Given the description of an element on the screen output the (x, y) to click on. 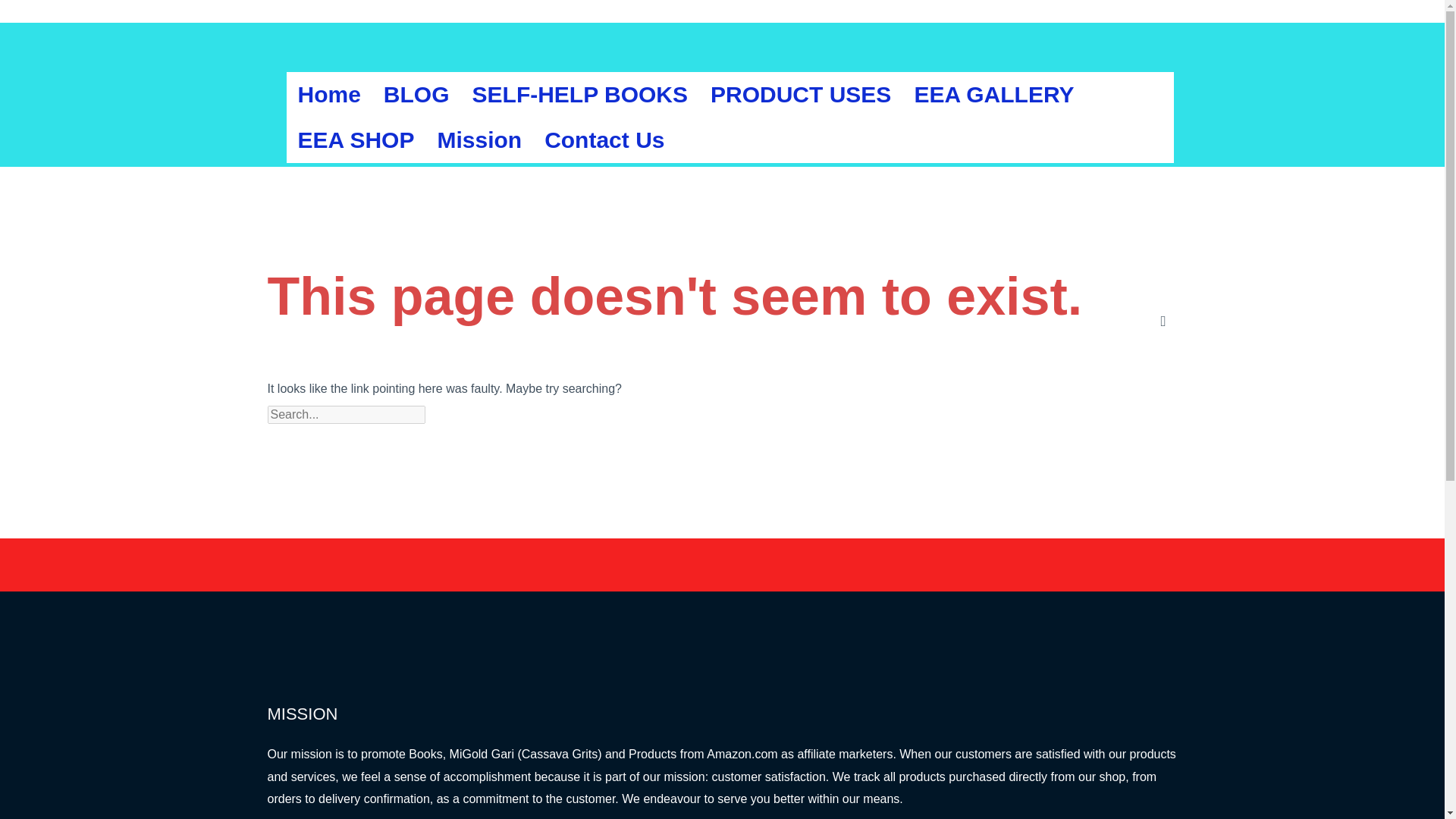
SELF-HELP BOOKS (579, 94)
Search (462, 414)
Search (462, 414)
EEA SHOP (356, 139)
Mission (478, 139)
BLOG (416, 94)
Contact Us (603, 139)
EEA GALLERY (993, 94)
Home (329, 94)
Search (462, 414)
PRODUCT USES (800, 94)
